Given the description of an element on the screen output the (x, y) to click on. 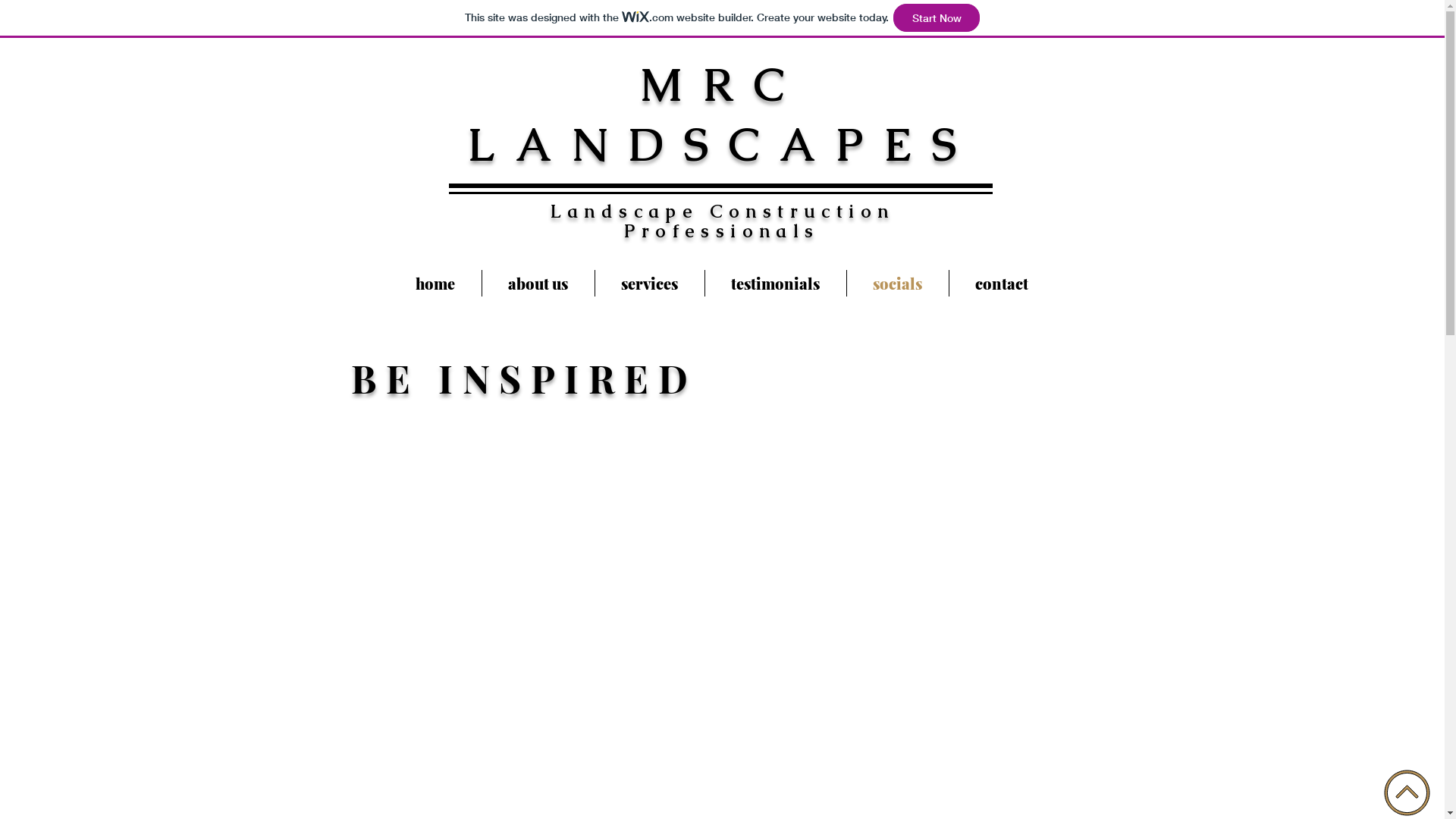
about us Element type: text (538, 282)
testimonials Element type: text (775, 282)
socials Element type: text (896, 282)
home Element type: text (435, 282)
services Element type: text (648, 282)
contact Element type: text (1001, 282)
